Given the description of an element on the screen output the (x, y) to click on. 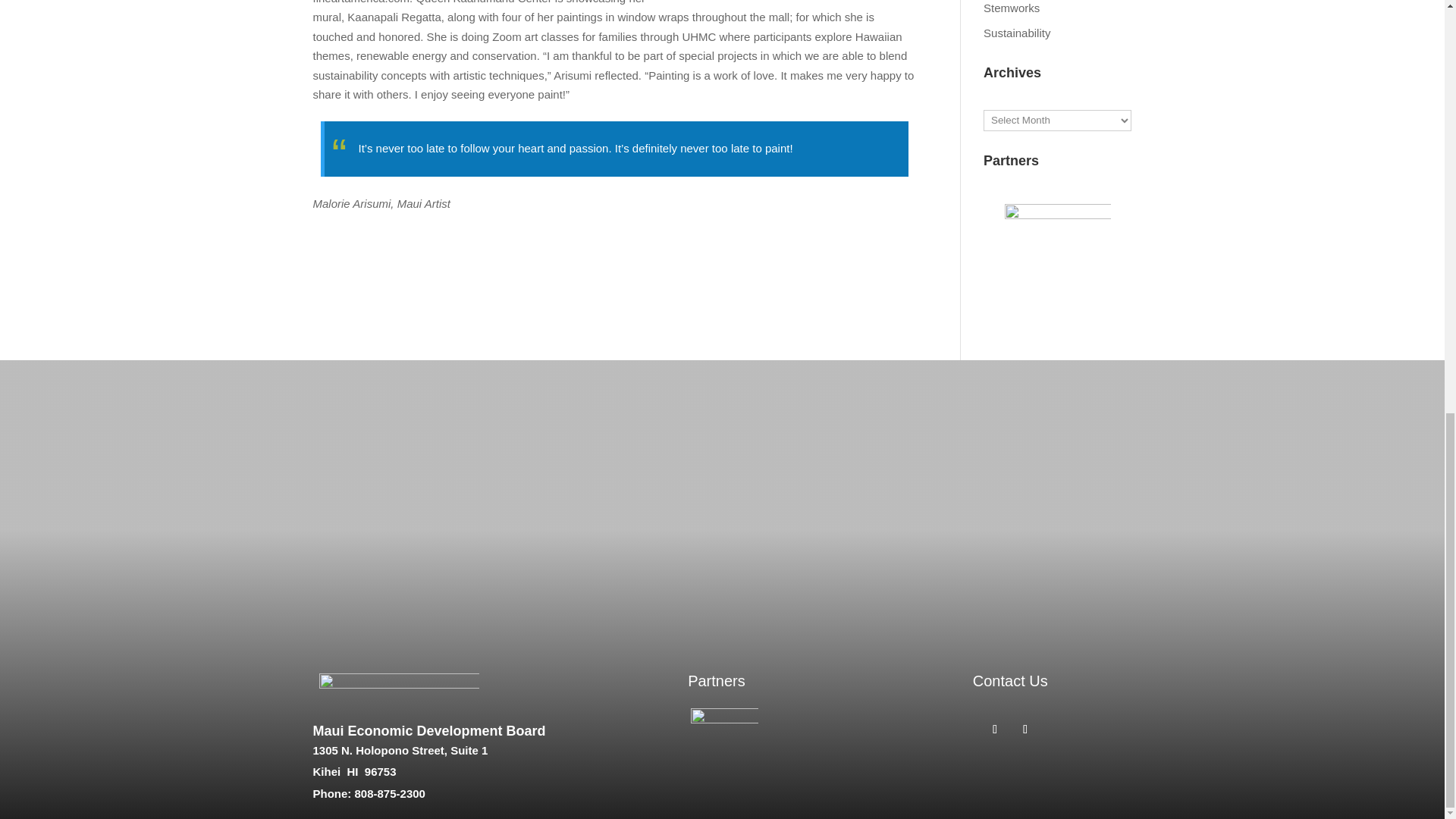
Contact Us (1010, 680)
Follow on X (1024, 729)
Stemworks (1011, 7)
Follow on Facebook (994, 729)
Sustainability (1016, 32)
